Given the description of an element on the screen output the (x, y) to click on. 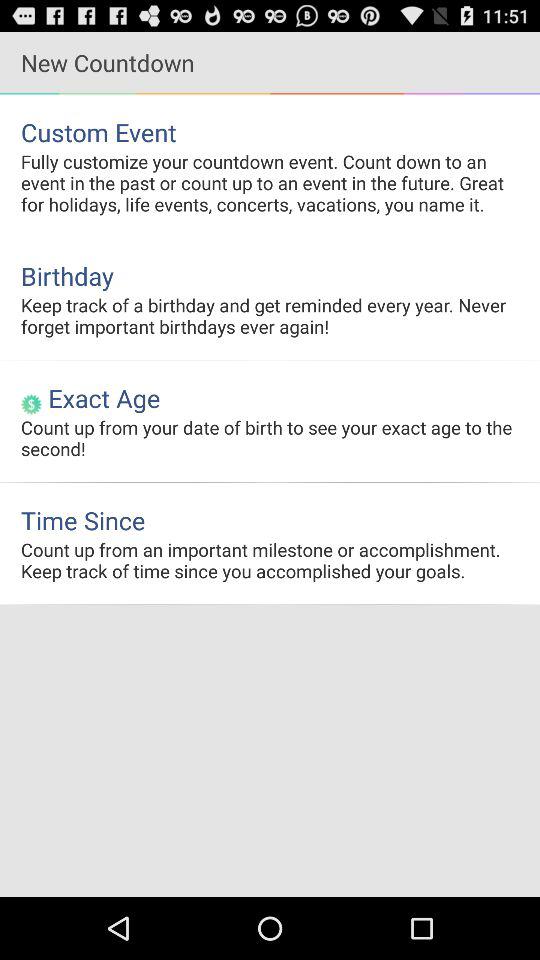
select fully customize your item (270, 182)
